Given the description of an element on the screen output the (x, y) to click on. 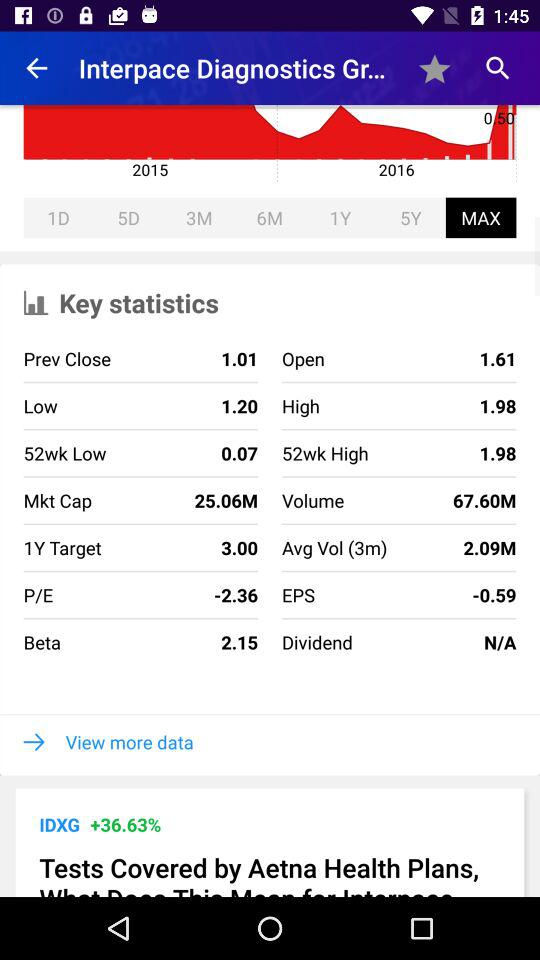
turn on icon next to the 52wk high icon (174, 500)
